Given the description of an element on the screen output the (x, y) to click on. 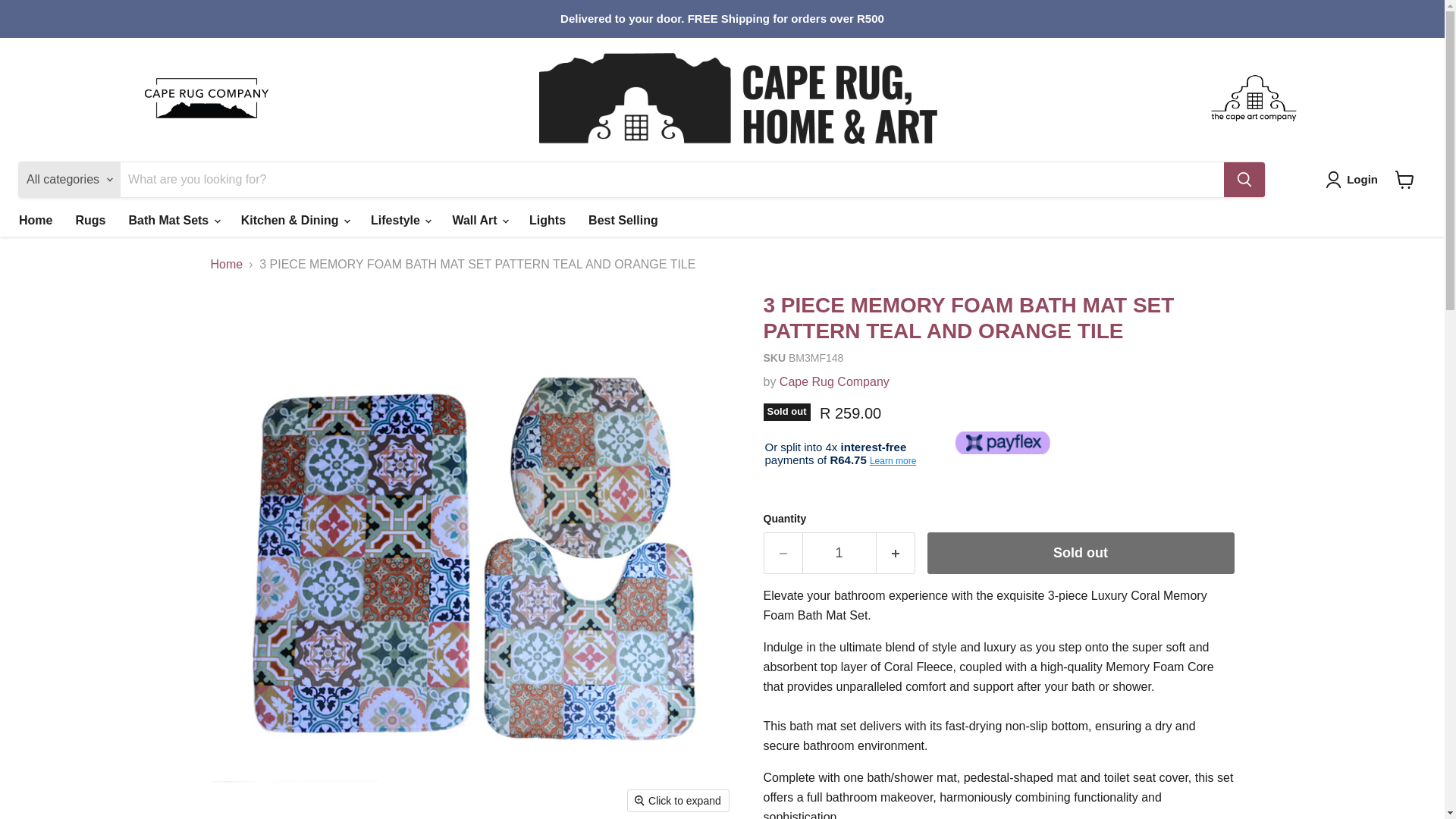
Cape Rug Company (833, 381)
Login (1354, 179)
1 (839, 553)
Home (35, 220)
Rugs (90, 220)
View cart (1404, 179)
